Given the description of an element on the screen output the (x, y) to click on. 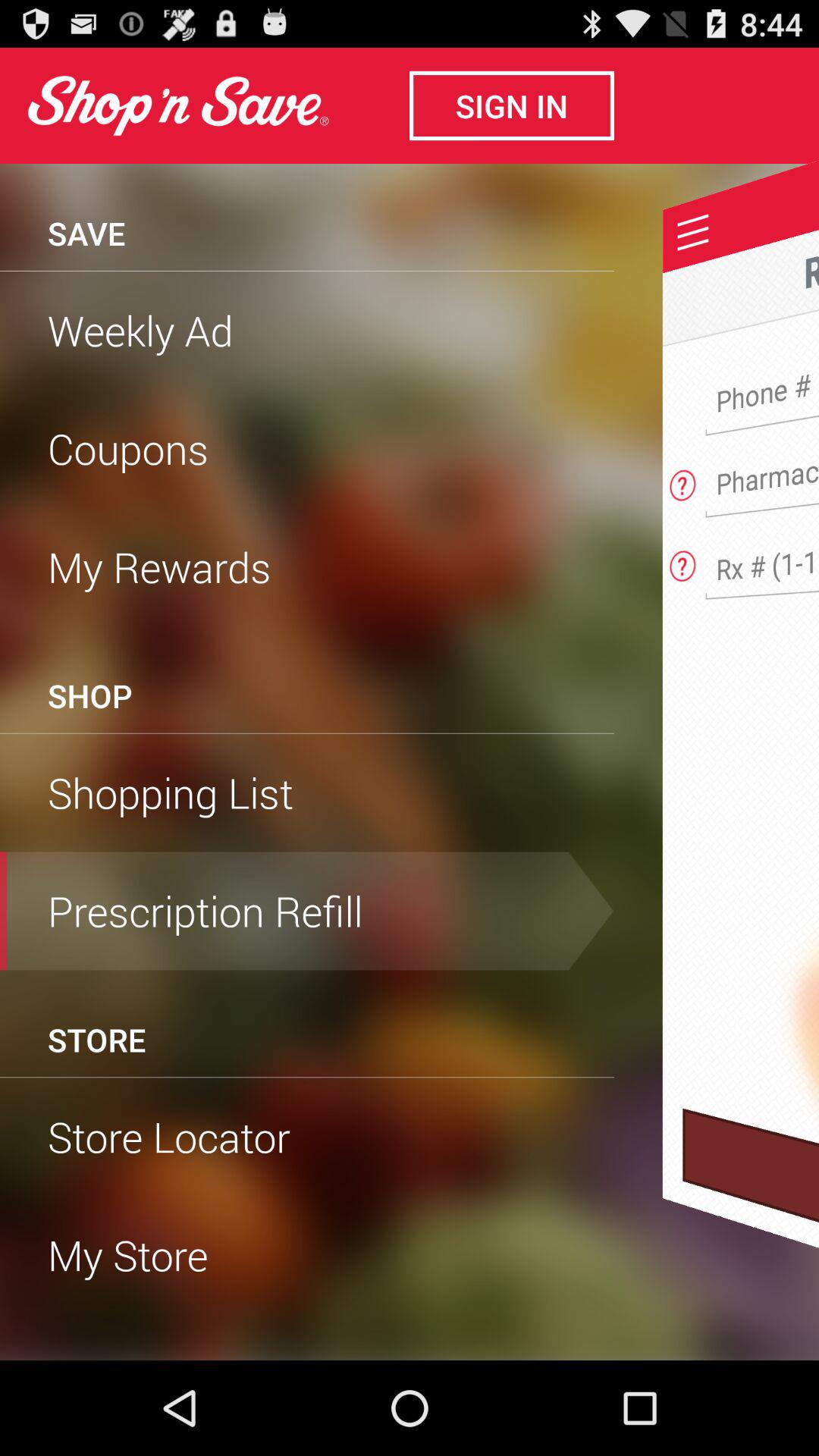
choose the weekly ad (307, 330)
